Given the description of an element on the screen output the (x, y) to click on. 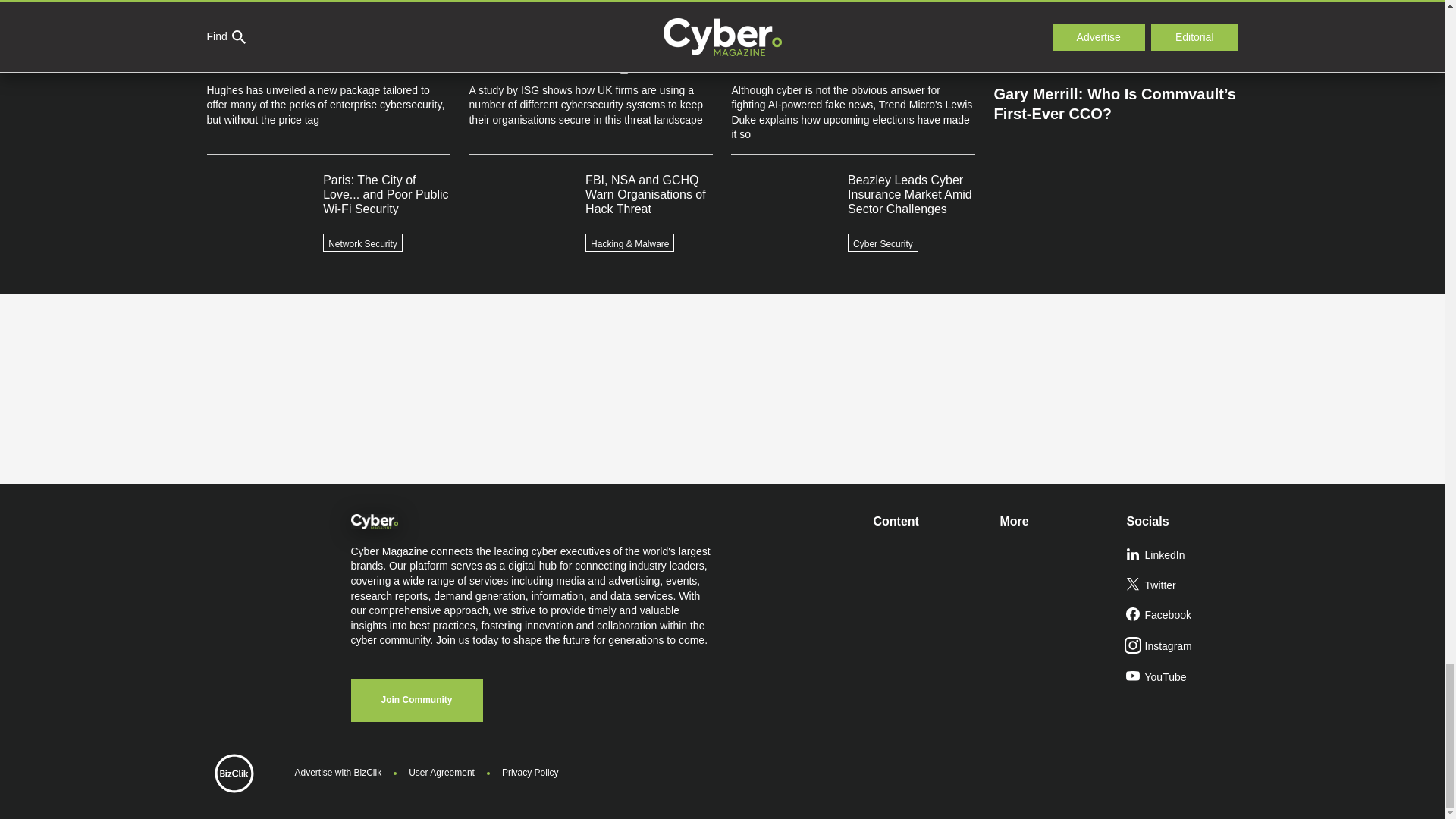
DDoS Attacks Threatening Operation of the Paris Olympics (1114, 3)
Keeping Fintechs Secure in the Age of Growing Cyber Threats (1114, 39)
